Given the description of an element on the screen output the (x, y) to click on. 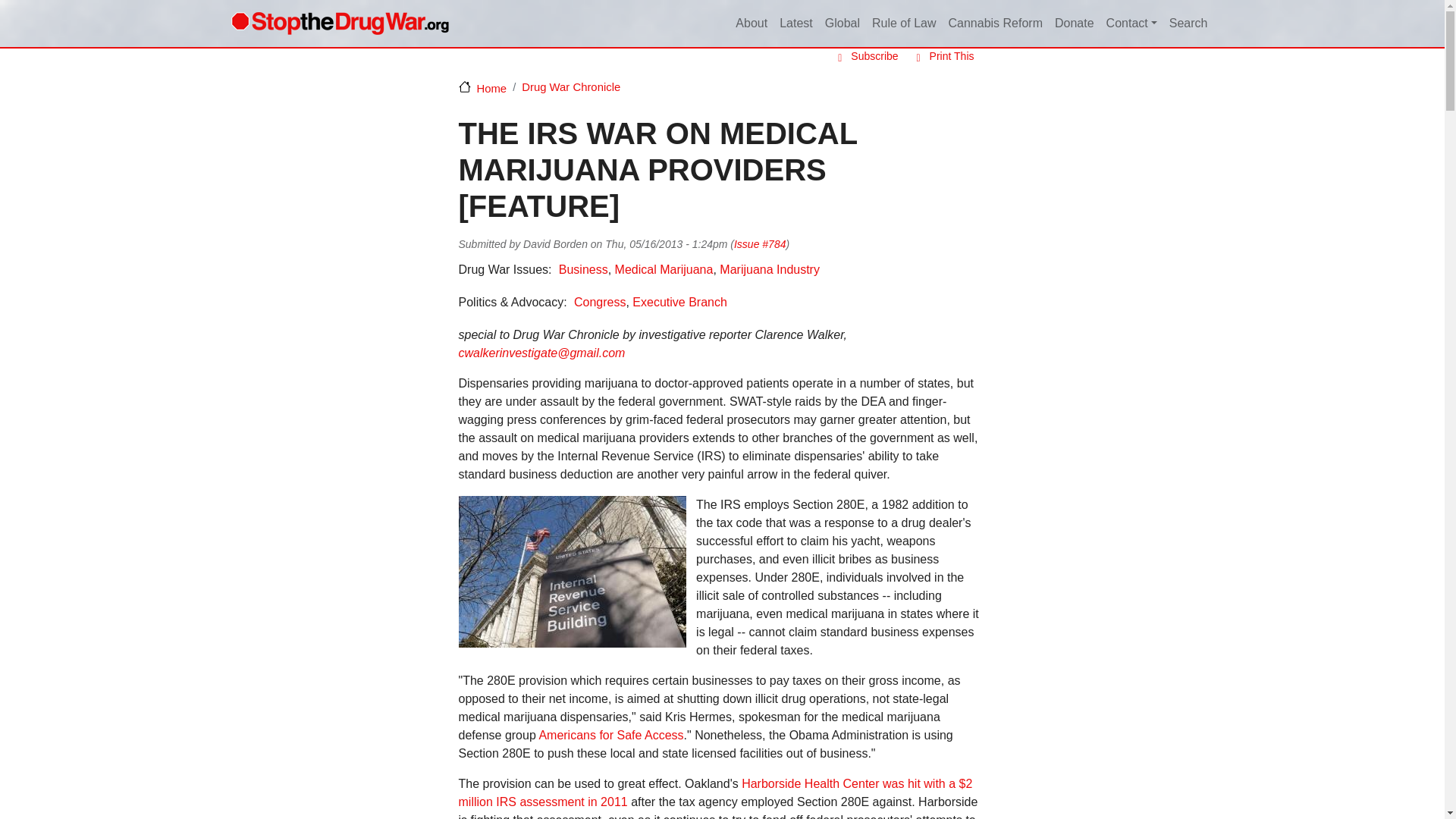
About (751, 23)
Please Support Our Work (1074, 23)
Latest (795, 23)
Global (842, 23)
Rule of Law (904, 23)
Thursday, May 16, 2013 - 1:24pm (665, 244)
Home (339, 23)
Search (1188, 23)
Donate (1074, 23)
Print This (942, 55)
Share to Linkedin (911, 243)
Subscribe (864, 55)
Share to Reddit (932, 243)
Share to Facebook (890, 243)
Share to Email (953, 243)
